Given the description of an element on the screen output the (x, y) to click on. 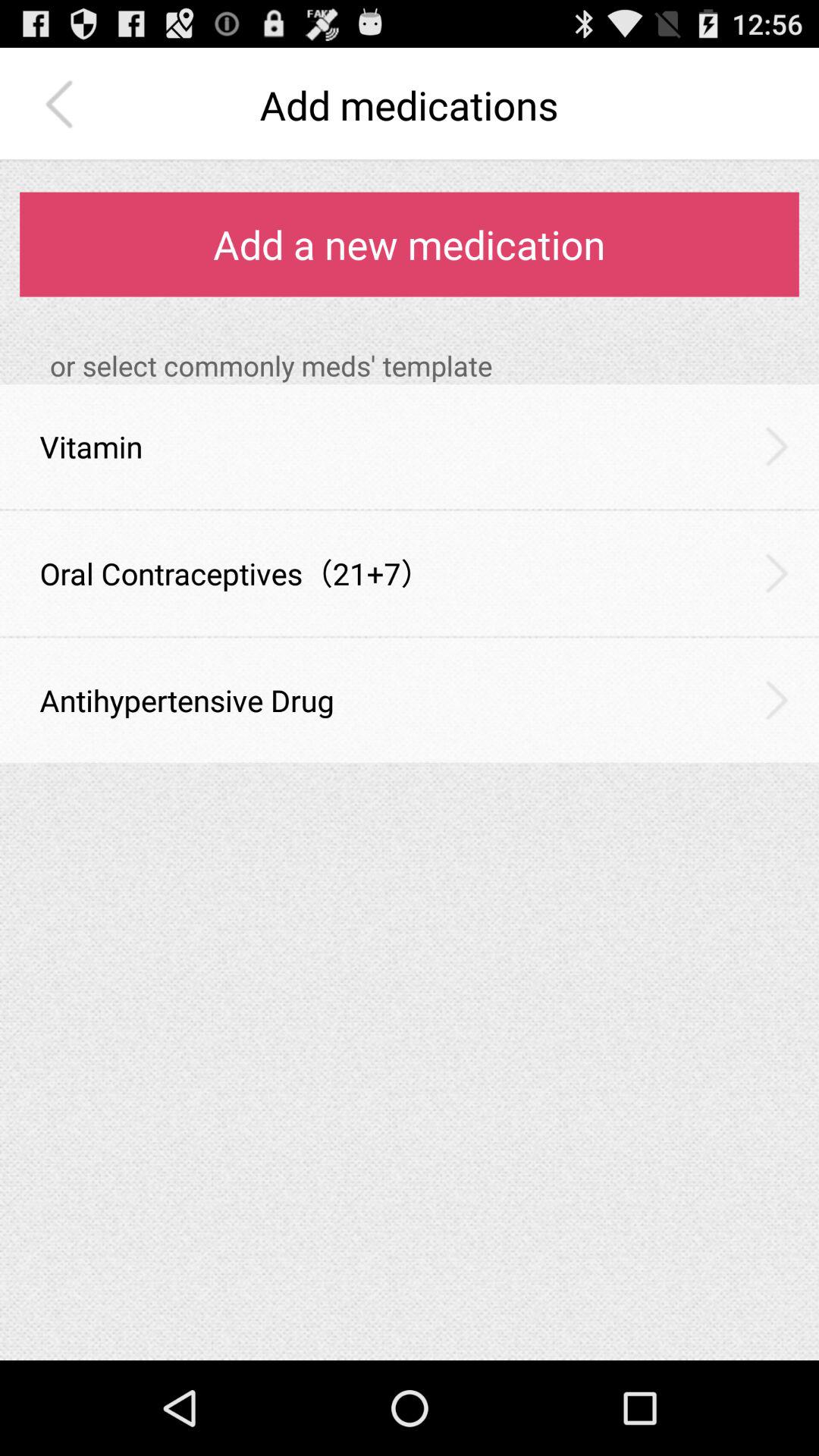
click the item below oral contraceptives 21 item (409, 636)
